Given the description of an element on the screen output the (x, y) to click on. 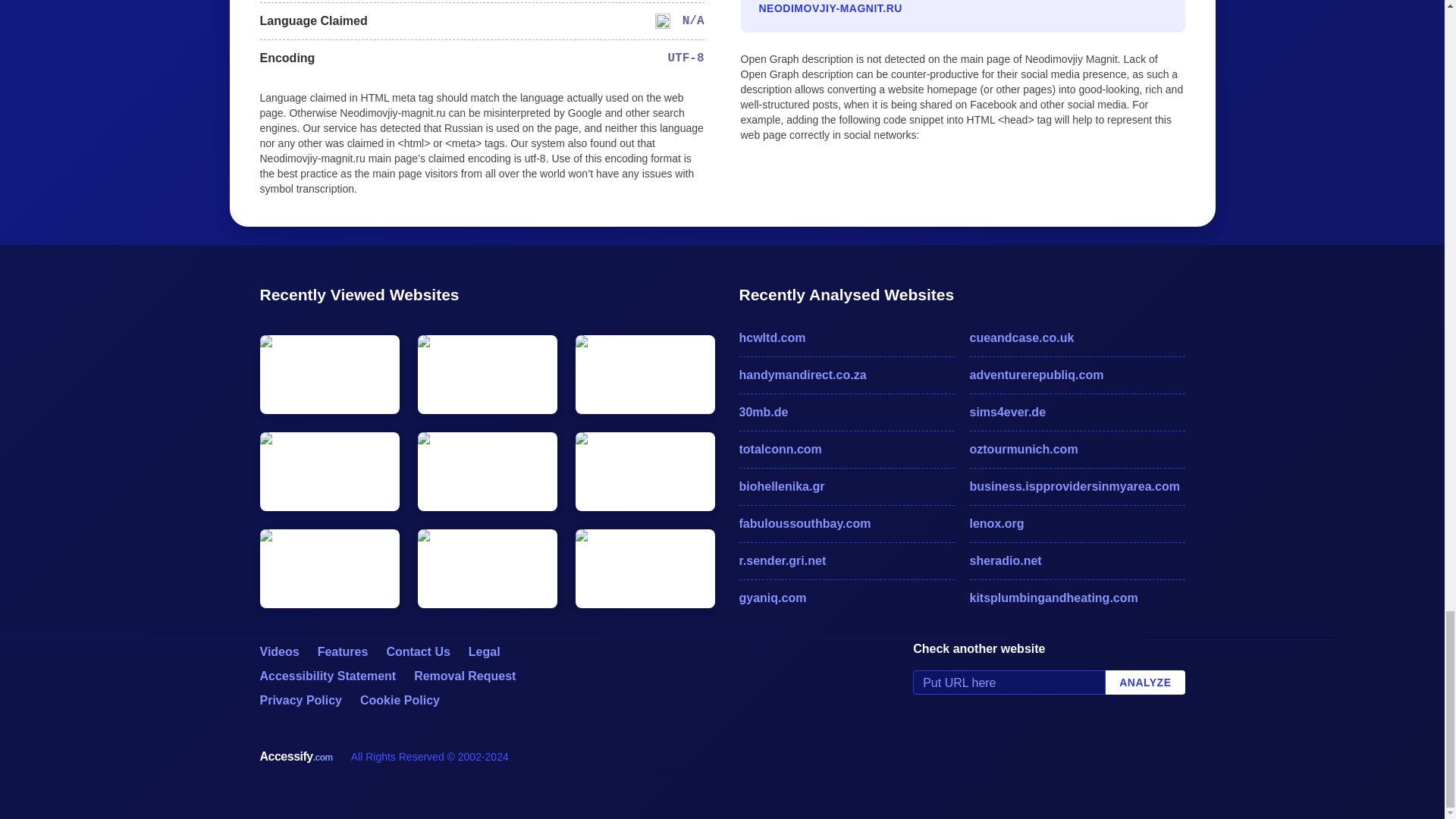
business.ispprovidersinmyarea.com (1077, 486)
hcwltd.com (845, 338)
adventurerepubliq.com (1077, 375)
kitsplumbingandheating.com (1077, 597)
fabuloussouthbay.com (845, 524)
r.sender.gri.net (845, 561)
Contact Us (417, 651)
Screencasts: video tutorials and guides (278, 651)
Videos (278, 651)
lenox.org (1077, 524)
gyaniq.com (845, 597)
sheradio.net (1077, 561)
biohellenika.gr (845, 486)
sims4ever.de (1077, 412)
30mb.de (845, 412)
